Given the description of an element on the screen output the (x, y) to click on. 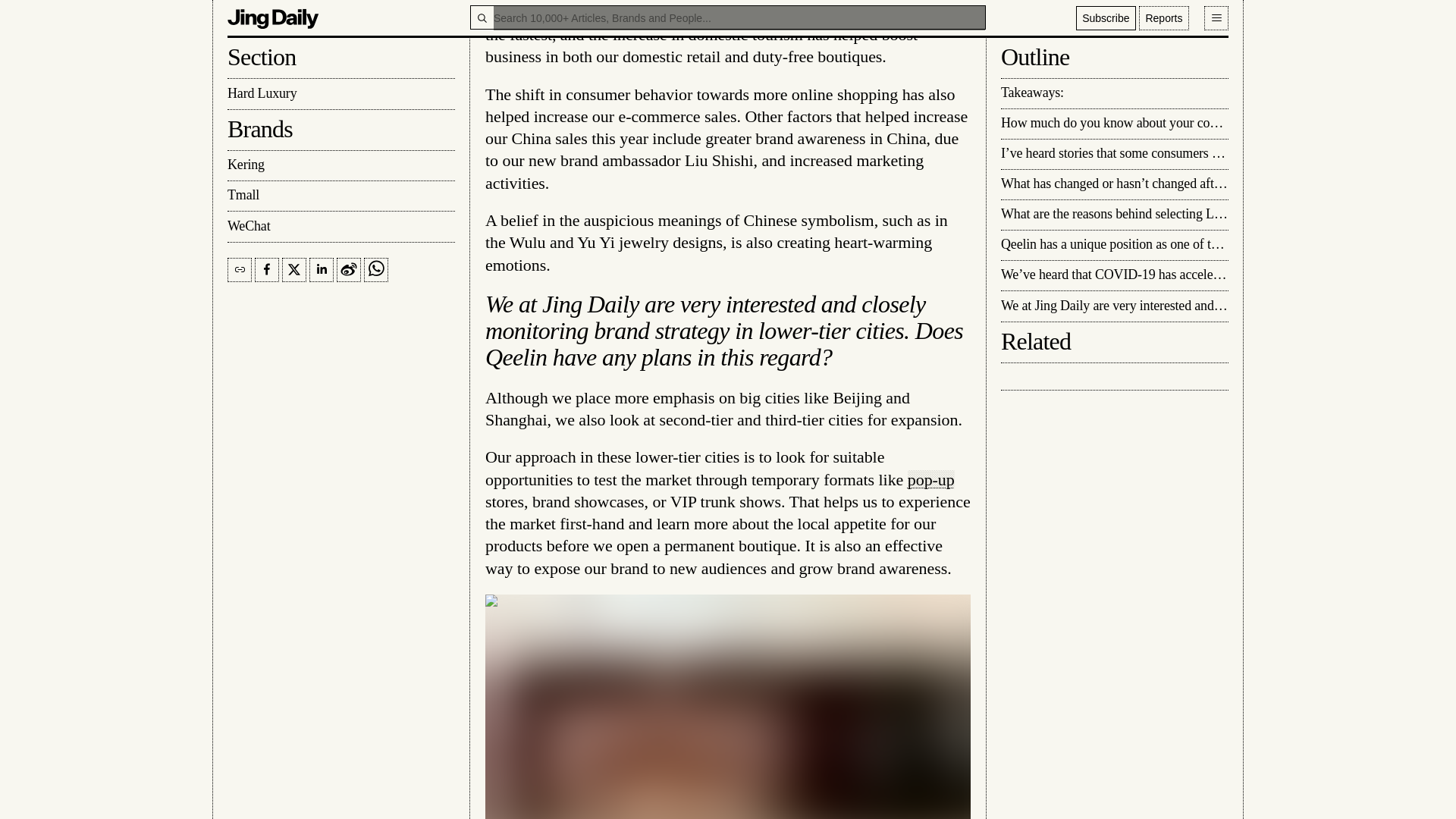
pop-up (931, 479)
